Given the description of an element on the screen output the (x, y) to click on. 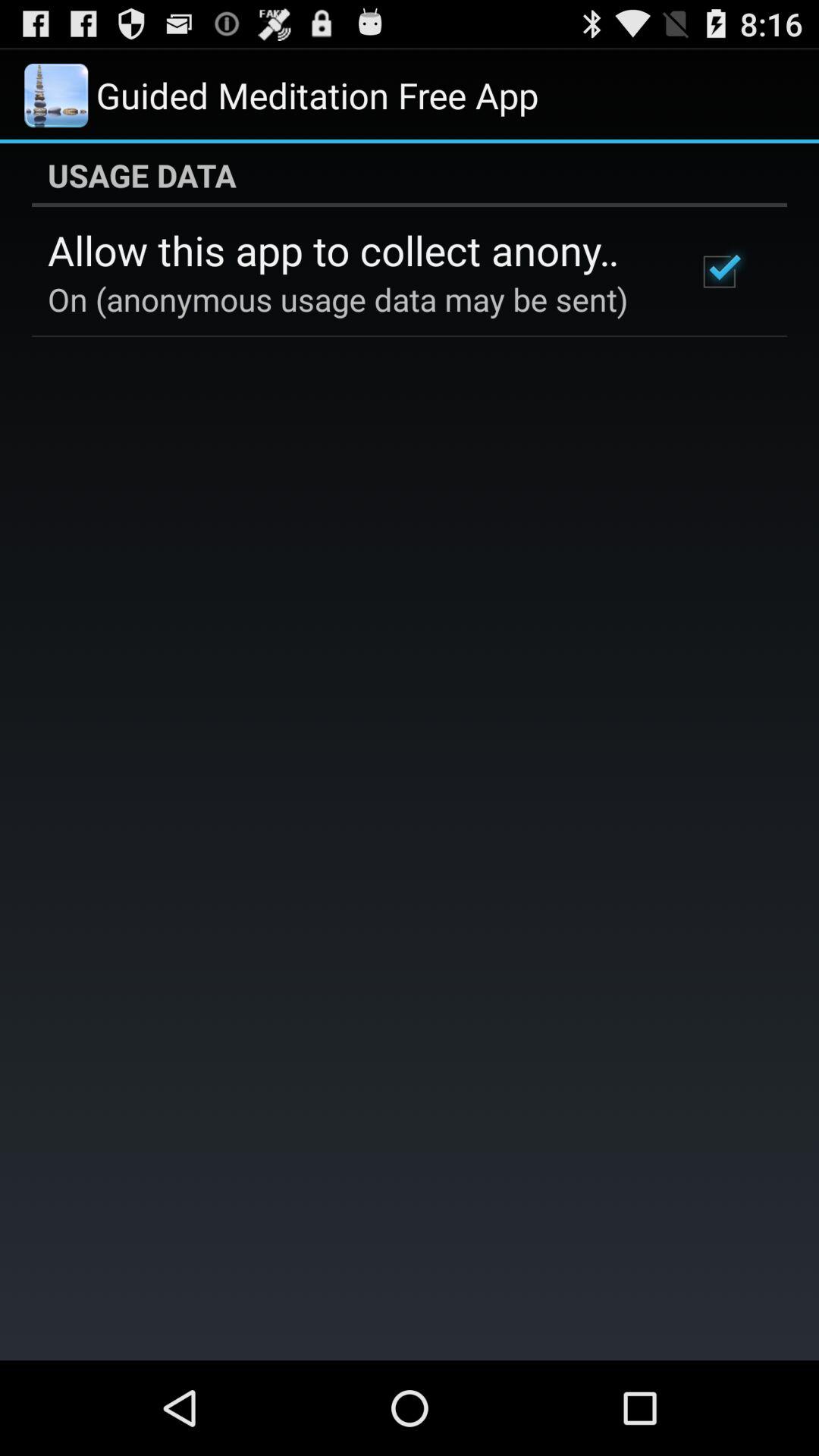
turn off icon at the top right corner (719, 271)
